Given the description of an element on the screen output the (x, y) to click on. 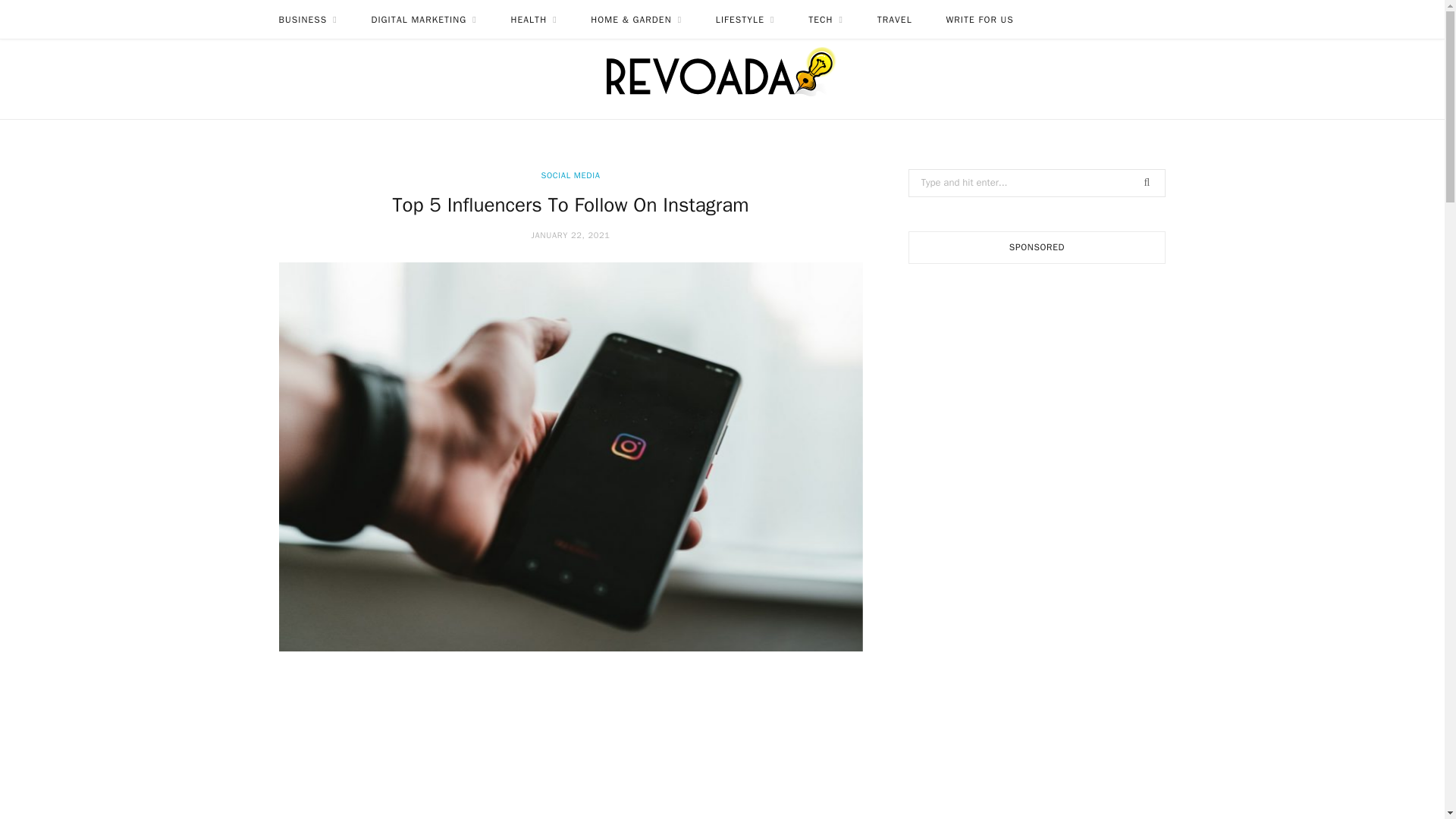
Search for: (1037, 182)
LIFESTYLE (745, 19)
Revoada (722, 67)
DIGITAL MARKETING (423, 19)
Advertisement (570, 748)
TECH (826, 19)
BUSINESS (307, 19)
HEALTH (533, 19)
